Given the description of an element on the screen output the (x, y) to click on. 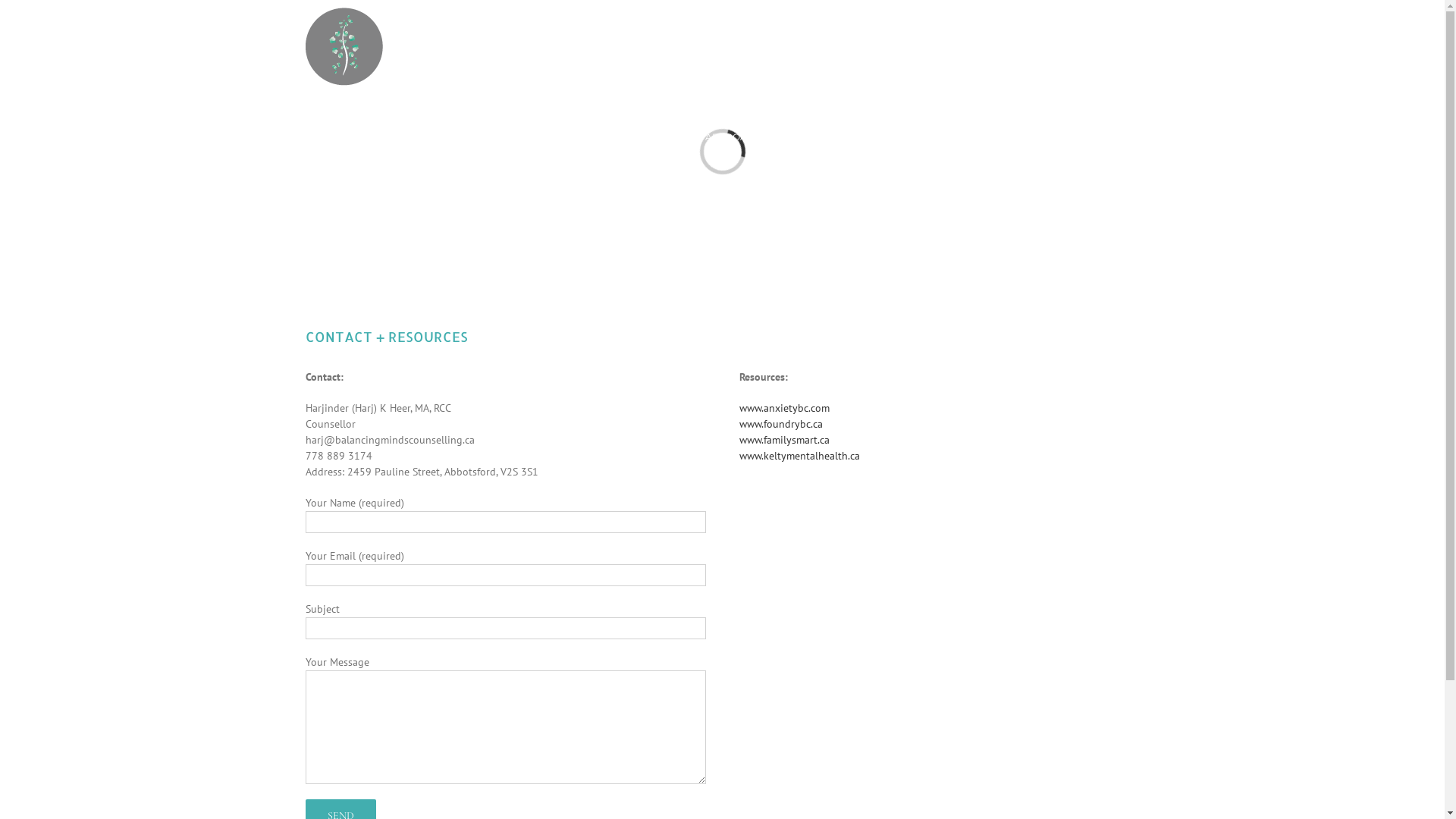
ABOUT Element type: text (634, 136)
APPROACH Element type: text (733, 136)
HOME Element type: text (550, 136)
www.foundrybc.ca Element type: text (780, 423)
www.familysmart.ca Element type: text (783, 439)
www.keltymentalhealth.ca Element type: text (798, 455)
CONTACT + RESOURCES Element type: text (1003, 136)
Search Element type: hover (1117, 136)
SERVICES + FEES Element type: text (853, 136)
www.anxietybc.com Element type: text (783, 407)
